Given the description of an element on the screen output the (x, y) to click on. 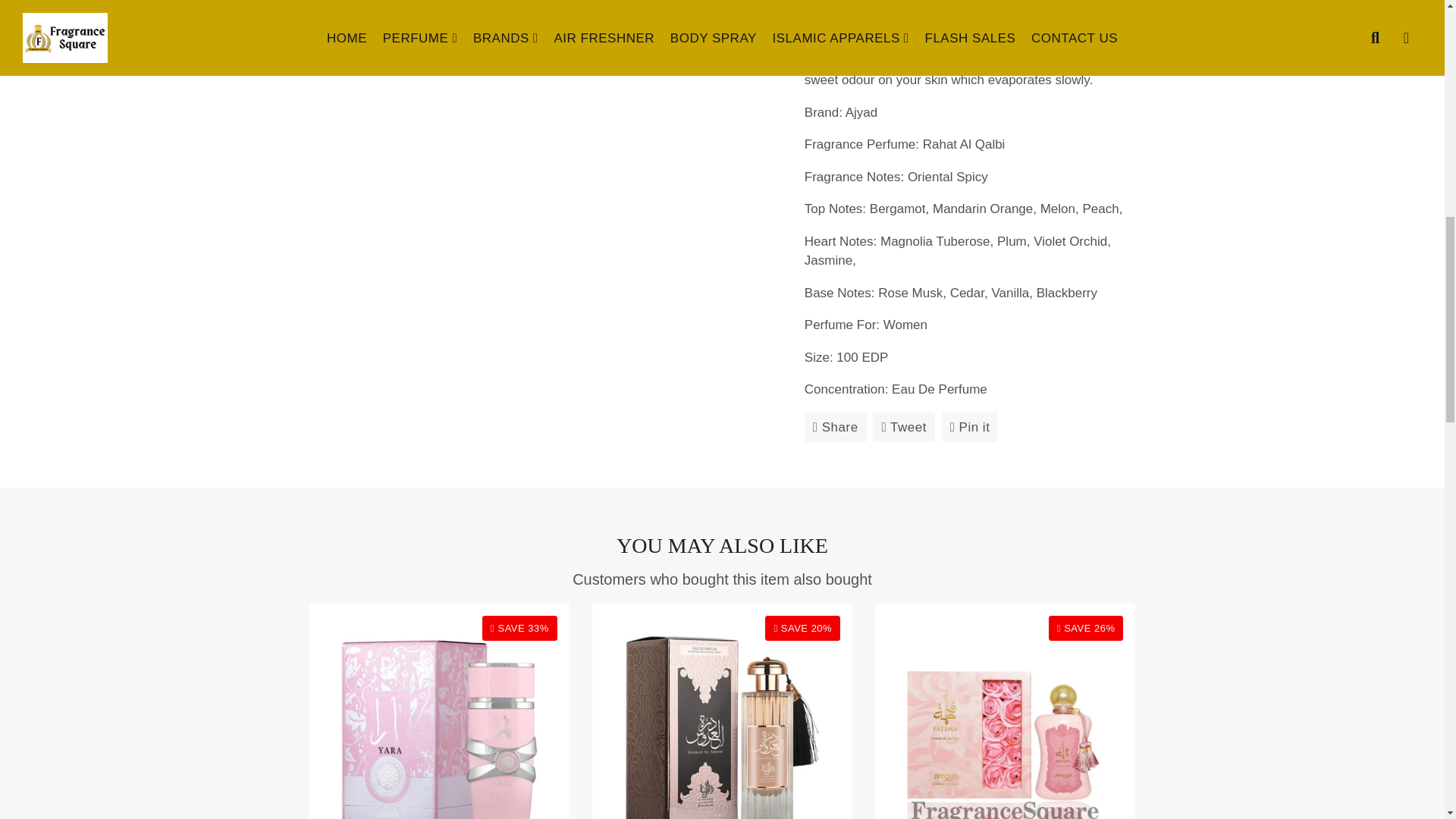
Pin on Pinterest (970, 427)
Tweet on Twitter (903, 427)
Share on Facebook (835, 427)
